Given the description of an element on the screen output the (x, y) to click on. 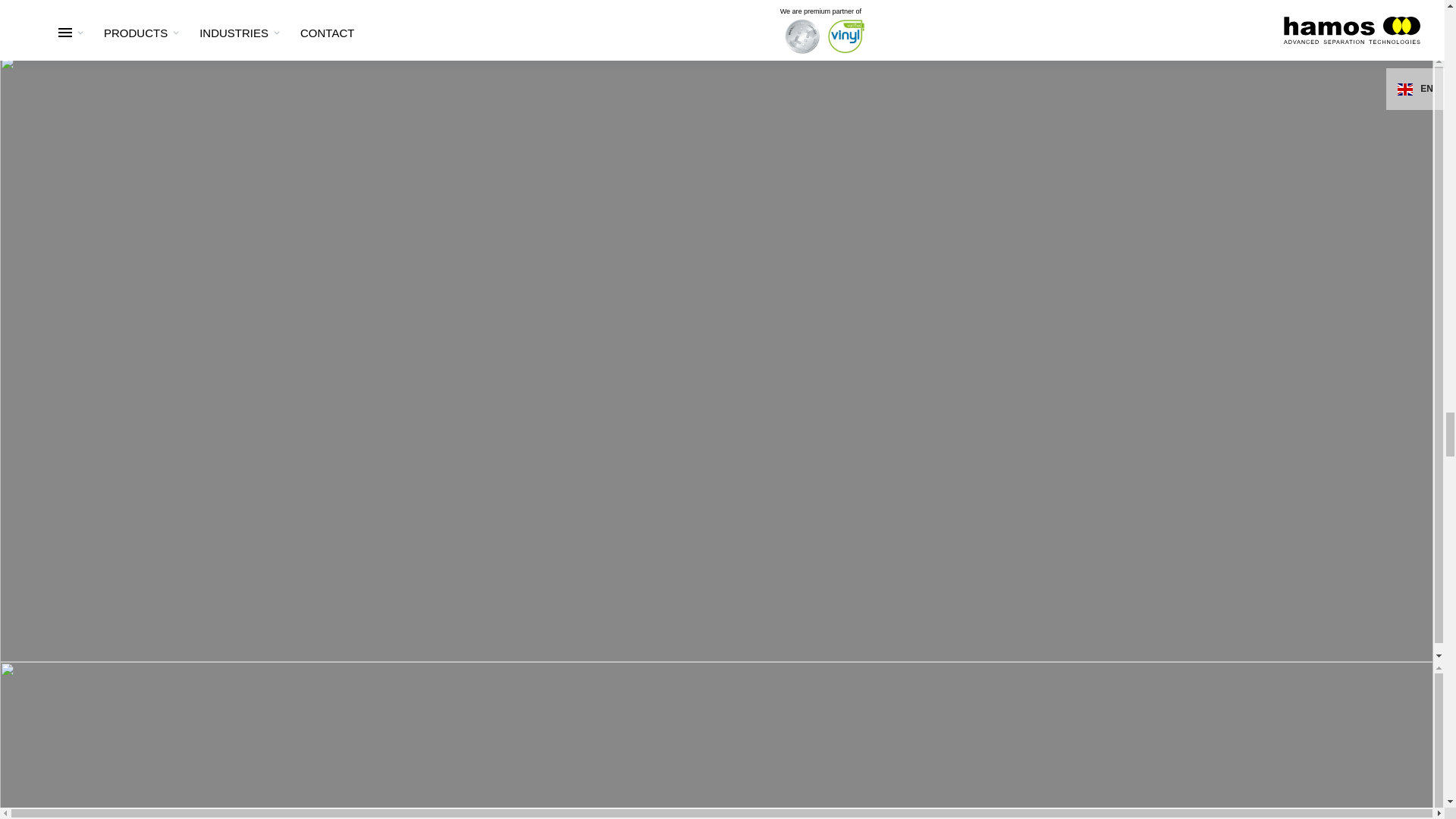
YouTube embed (721, 12)
